Given the description of an element on the screen output the (x, y) to click on. 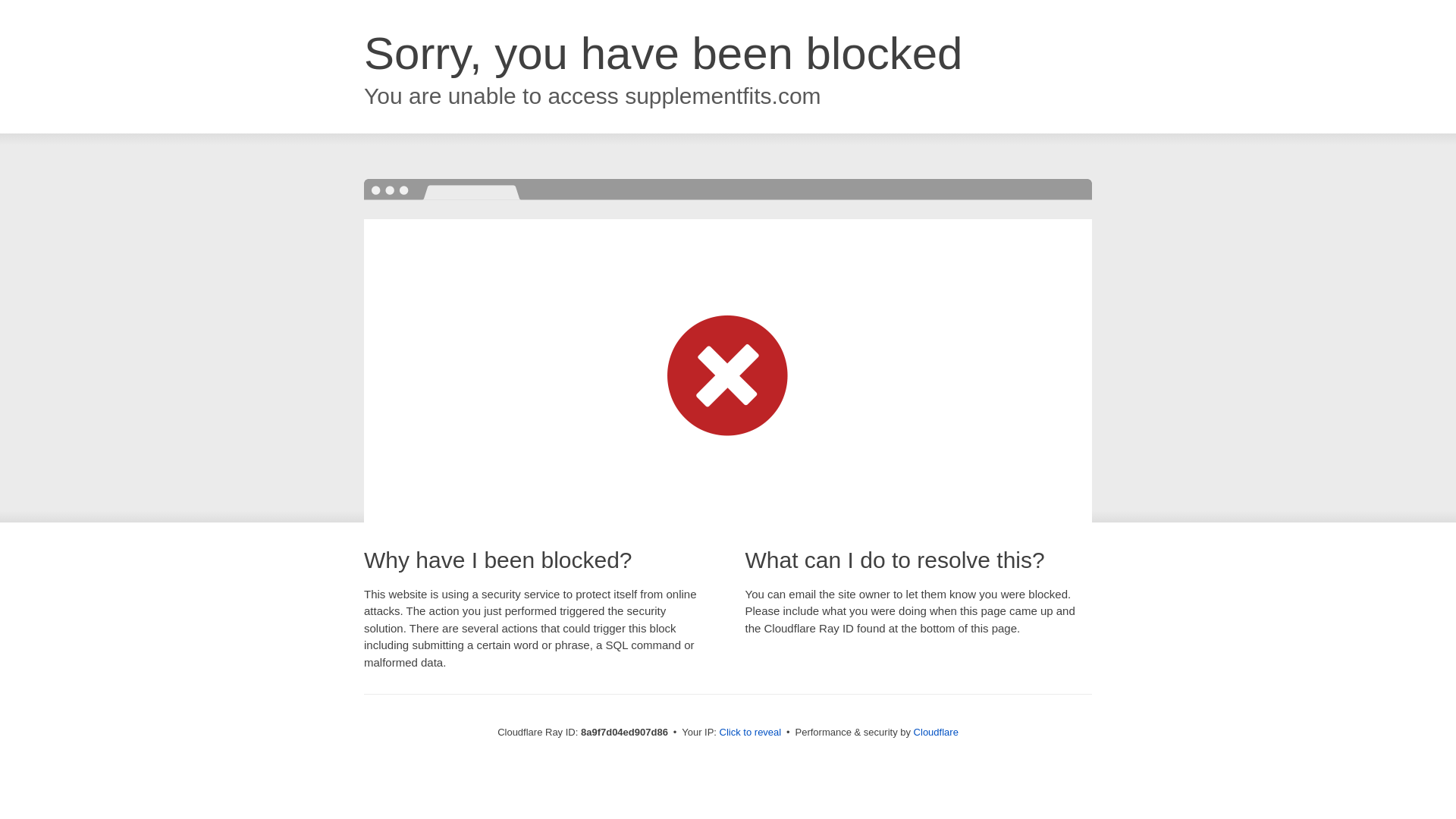
Cloudflare (936, 731)
Click to reveal (750, 732)
